Given the description of an element on the screen output the (x, y) to click on. 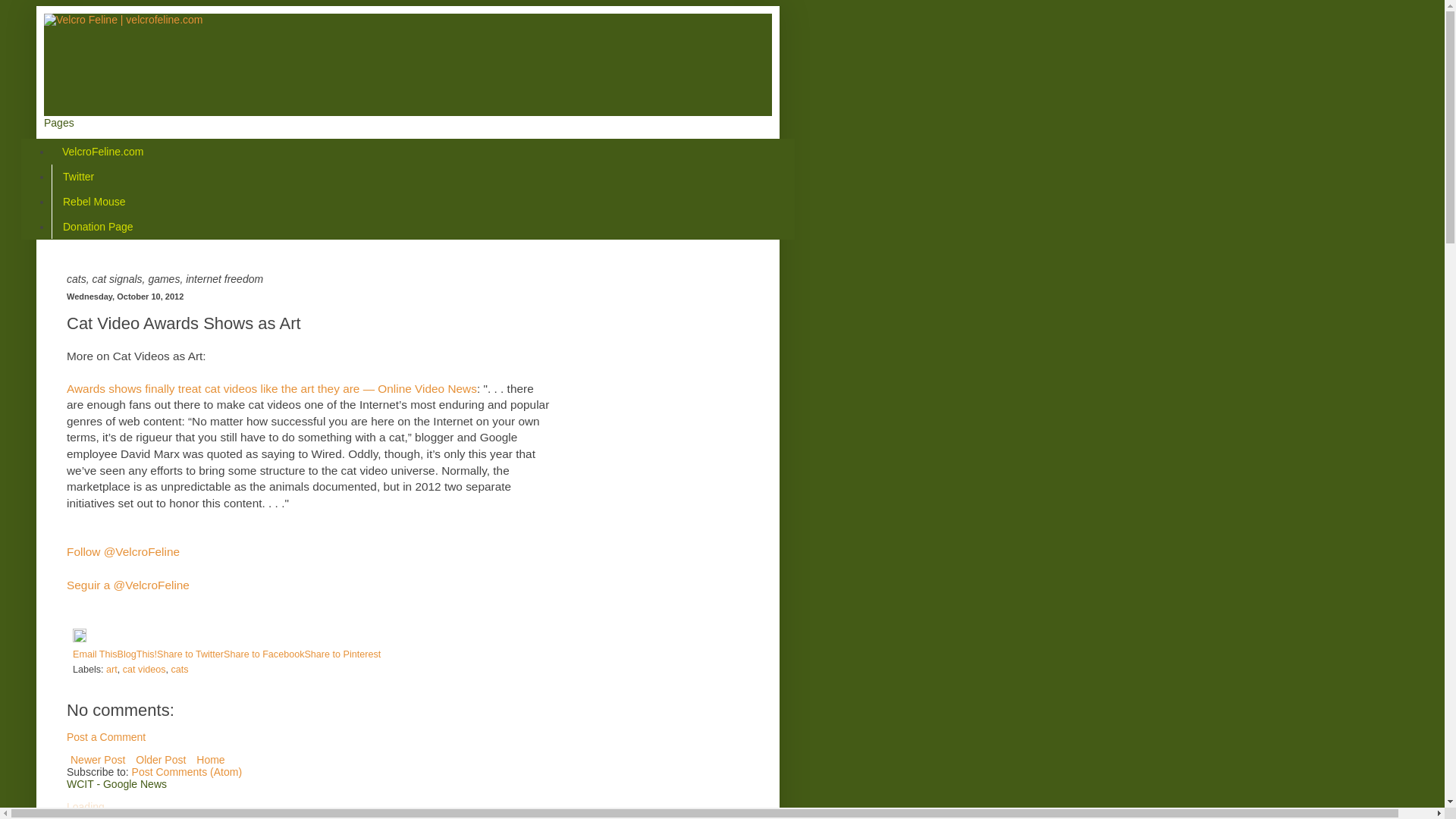
cat videos (143, 669)
Post a Comment (105, 736)
Share to Pinterest (342, 654)
BlogThis! (137, 654)
Share to Facebook (264, 654)
Share to Pinterest (342, 654)
Share to Twitter (190, 654)
Donation Page (97, 226)
cats (180, 669)
Older Post (160, 759)
Email This (94, 654)
Loading... (89, 806)
BlogThis! (137, 654)
Email This (94, 654)
Edit Post (78, 638)
